Given the description of an element on the screen output the (x, y) to click on. 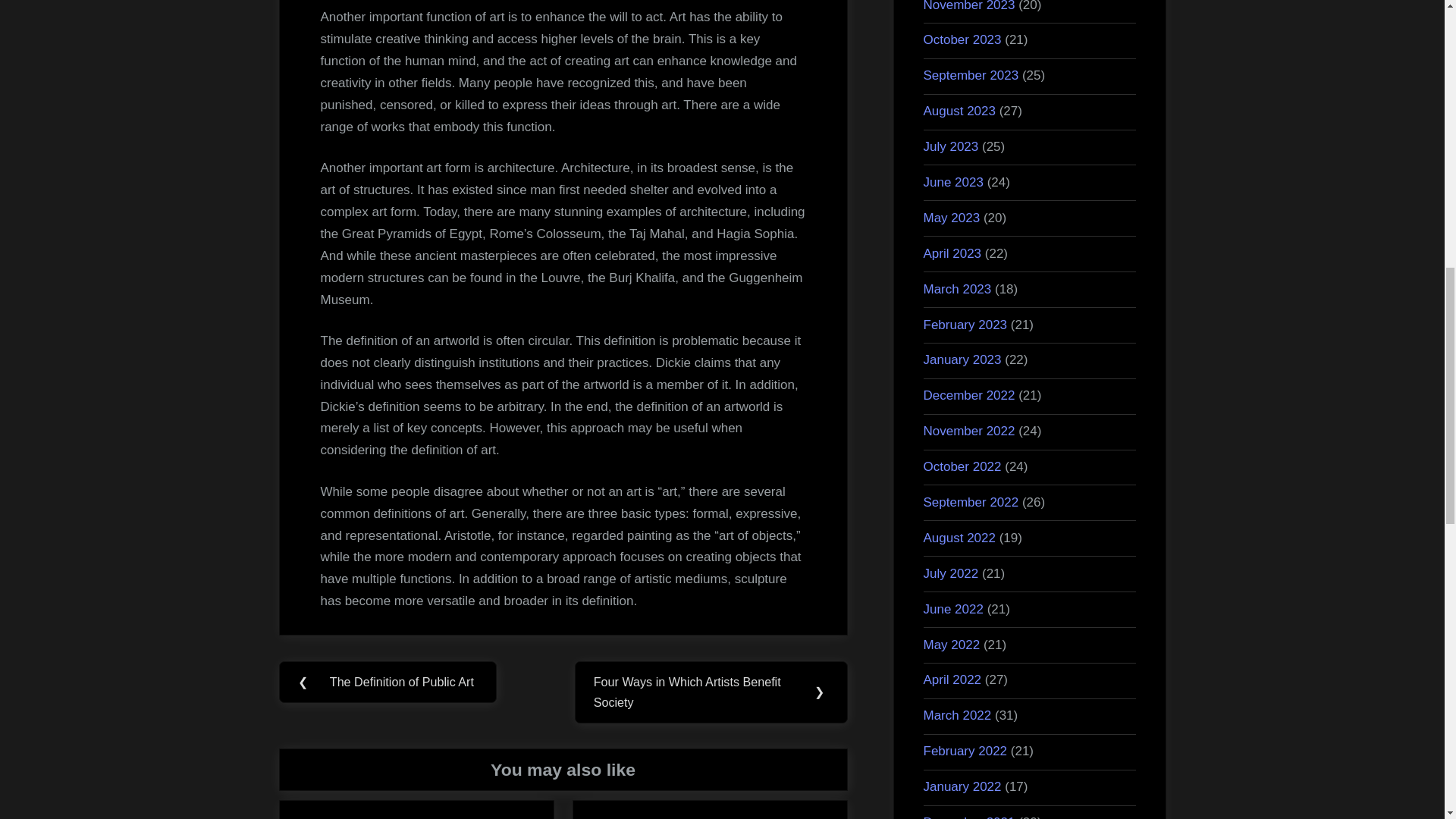
August 2023 (959, 110)
July 2023 (950, 146)
October 2023 (962, 39)
September 2023 (971, 74)
News Update (623, 818)
June 2023 (953, 182)
November 2023 (968, 6)
